Given the description of an element on the screen output the (x, y) to click on. 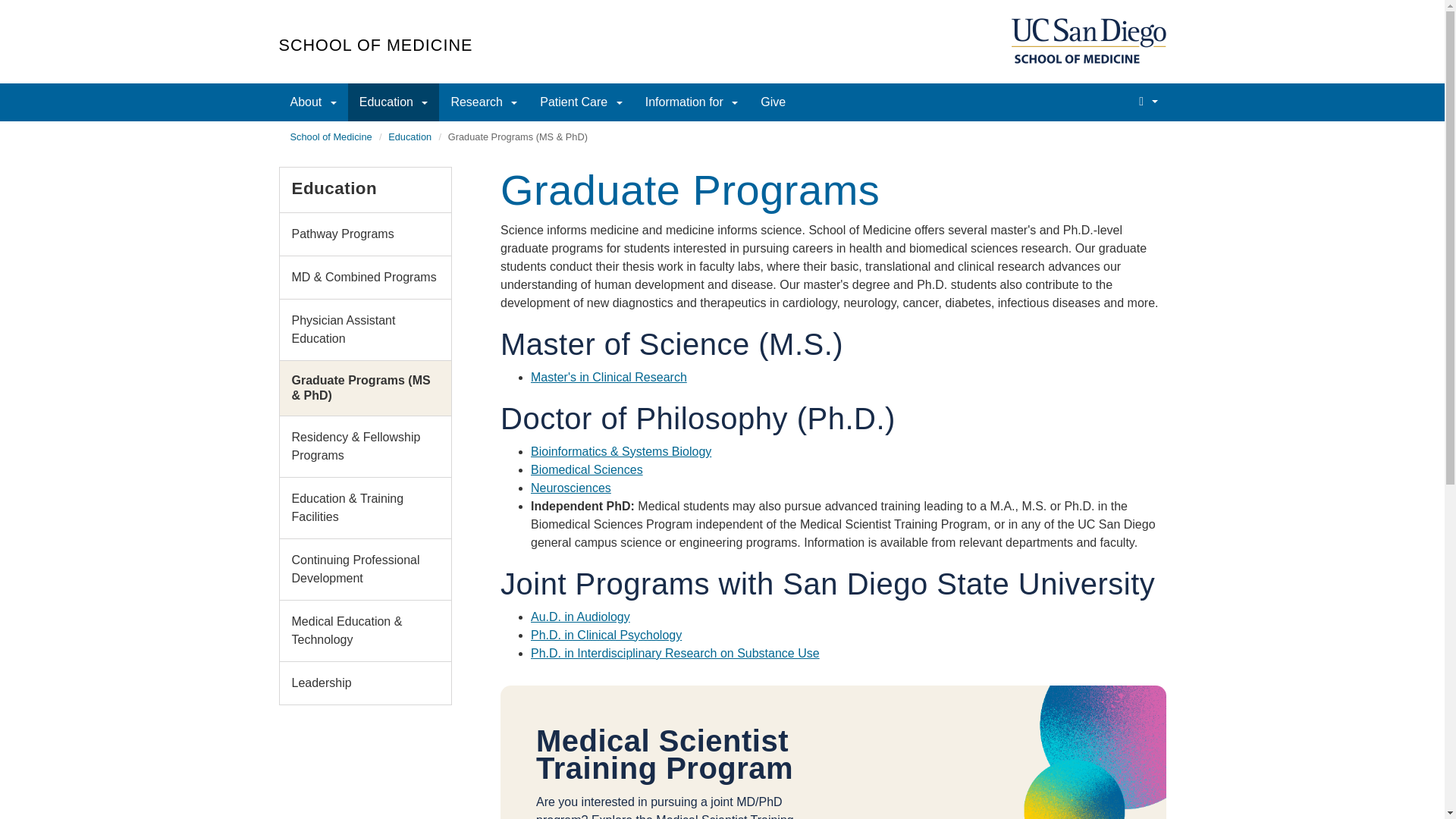
Clinical Research Masters Degree Graduate Program (609, 377)
Joint Graduate Program with SDSU - Clinical Psychology (606, 634)
Bioinformatics and Systems Biology Graduate Program (621, 451)
SCHOOL OF MEDICINE (376, 45)
UC San Diego School of Medicine (1088, 40)
Biomedical Sciences Graduate Program (587, 469)
Neurosciences Graduate Program (571, 487)
Joint Graduate Program with SDSU - Audiology (580, 616)
